Given the description of an element on the screen output the (x, y) to click on. 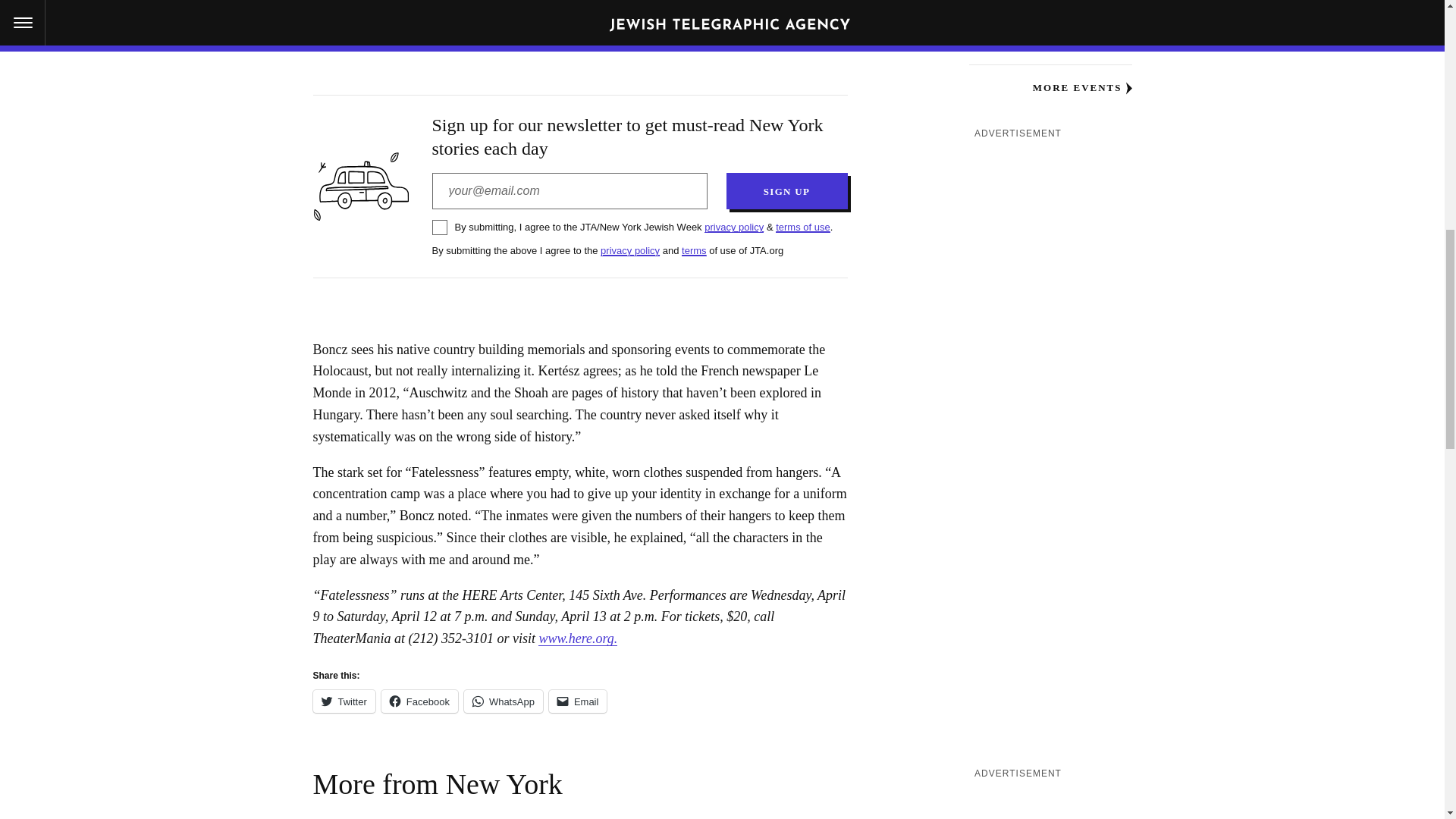
Click to share on Twitter (343, 701)
Click to email a link to a friend (577, 701)
Click to share on WhatsApp (503, 701)
Sign Up (786, 190)
Click to share on Facebook (419, 701)
